Given the description of an element on the screen output the (x, y) to click on. 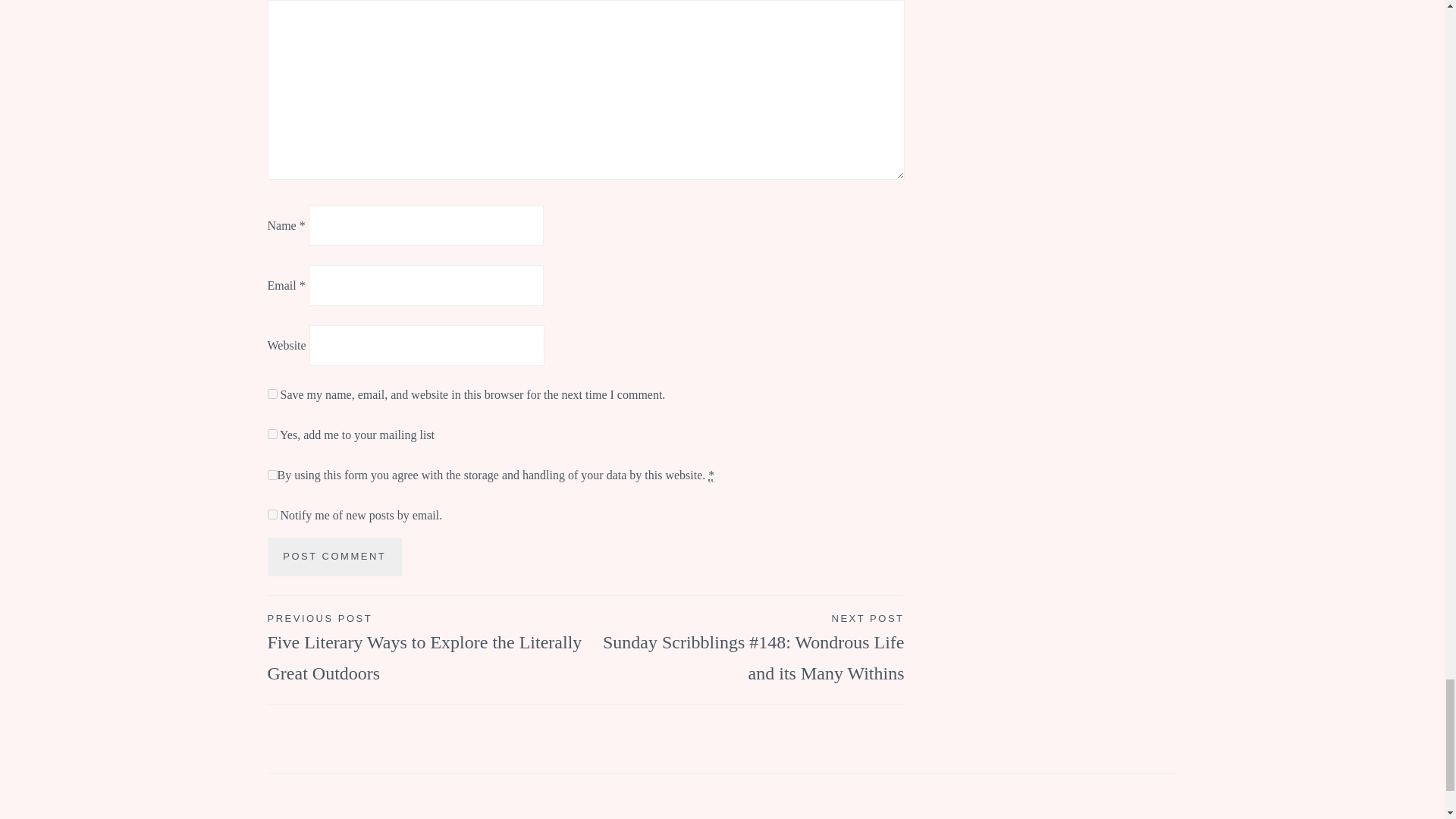
Post Comment (333, 556)
subscribe (271, 514)
1 (271, 433)
yes (271, 393)
